Given the description of an element on the screen output the (x, y) to click on. 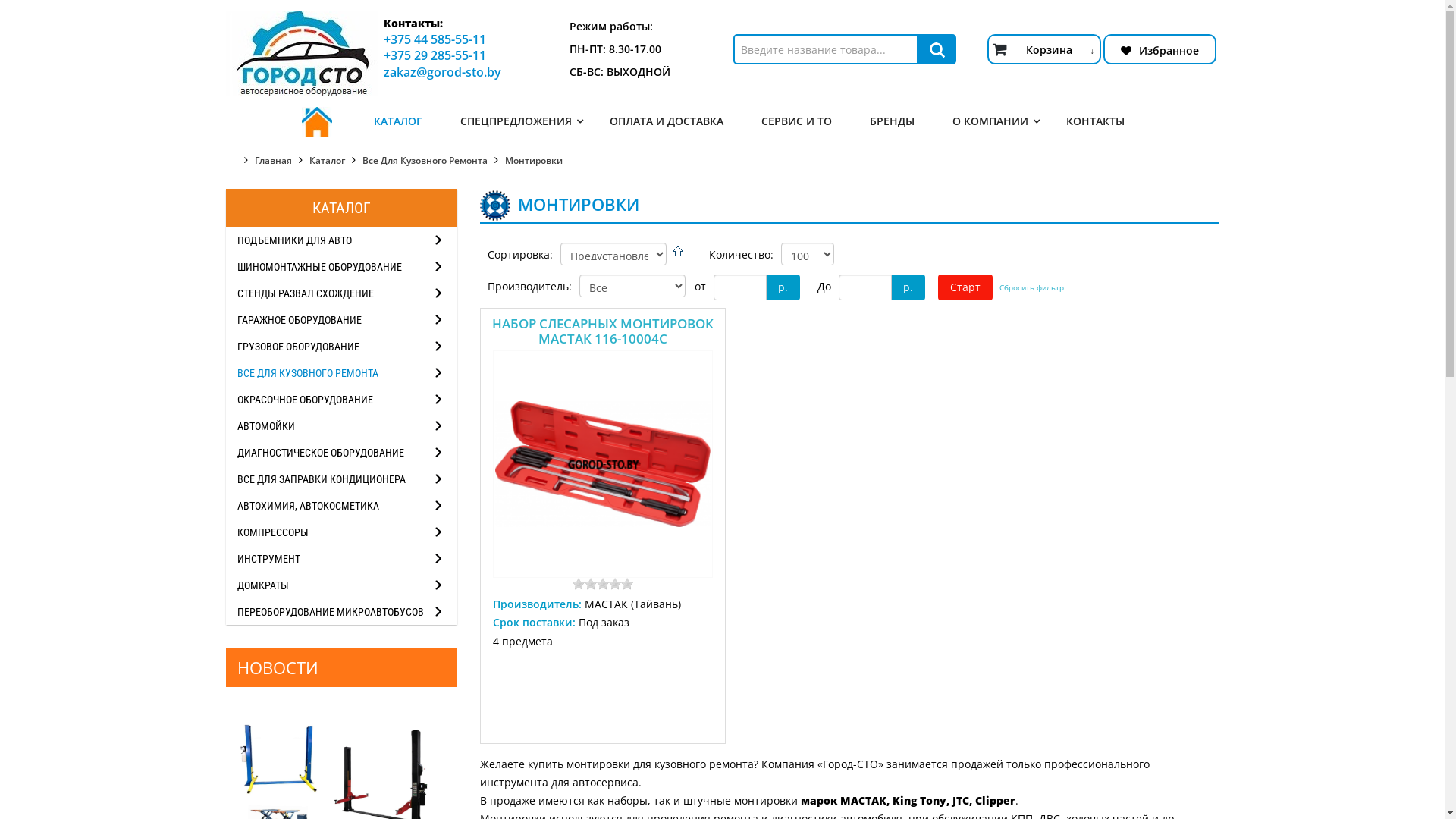
zakaz@gorod-sto.by Element type: text (442, 71)
+375 29 285-55-11 Element type: text (434, 55)
+375 44 585-55-11 Element type: text (434, 38)
